Given the description of an element on the screen output the (x, y) to click on. 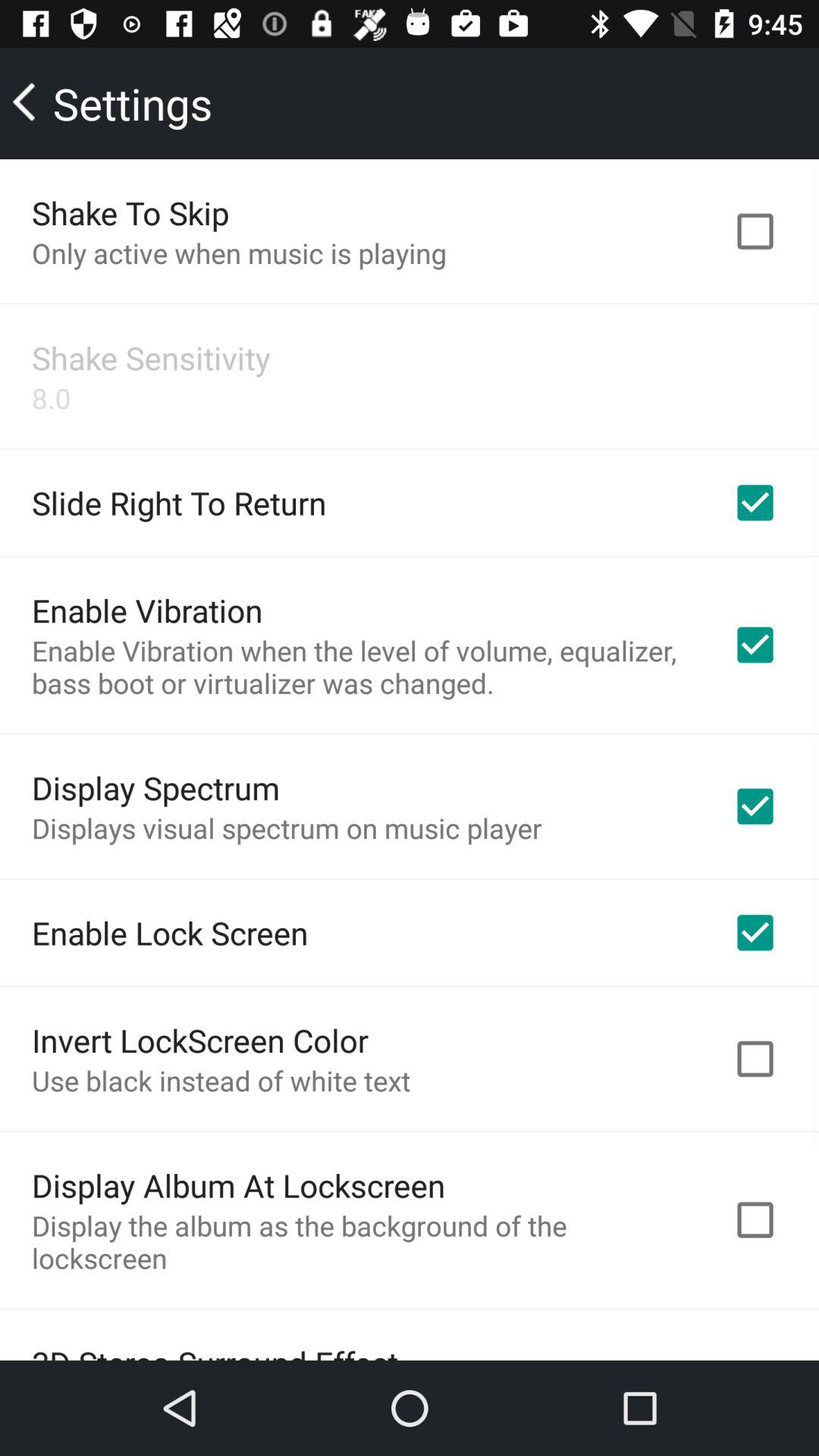
click icon above shake to skip (114, 103)
